Given the description of an element on the screen output the (x, y) to click on. 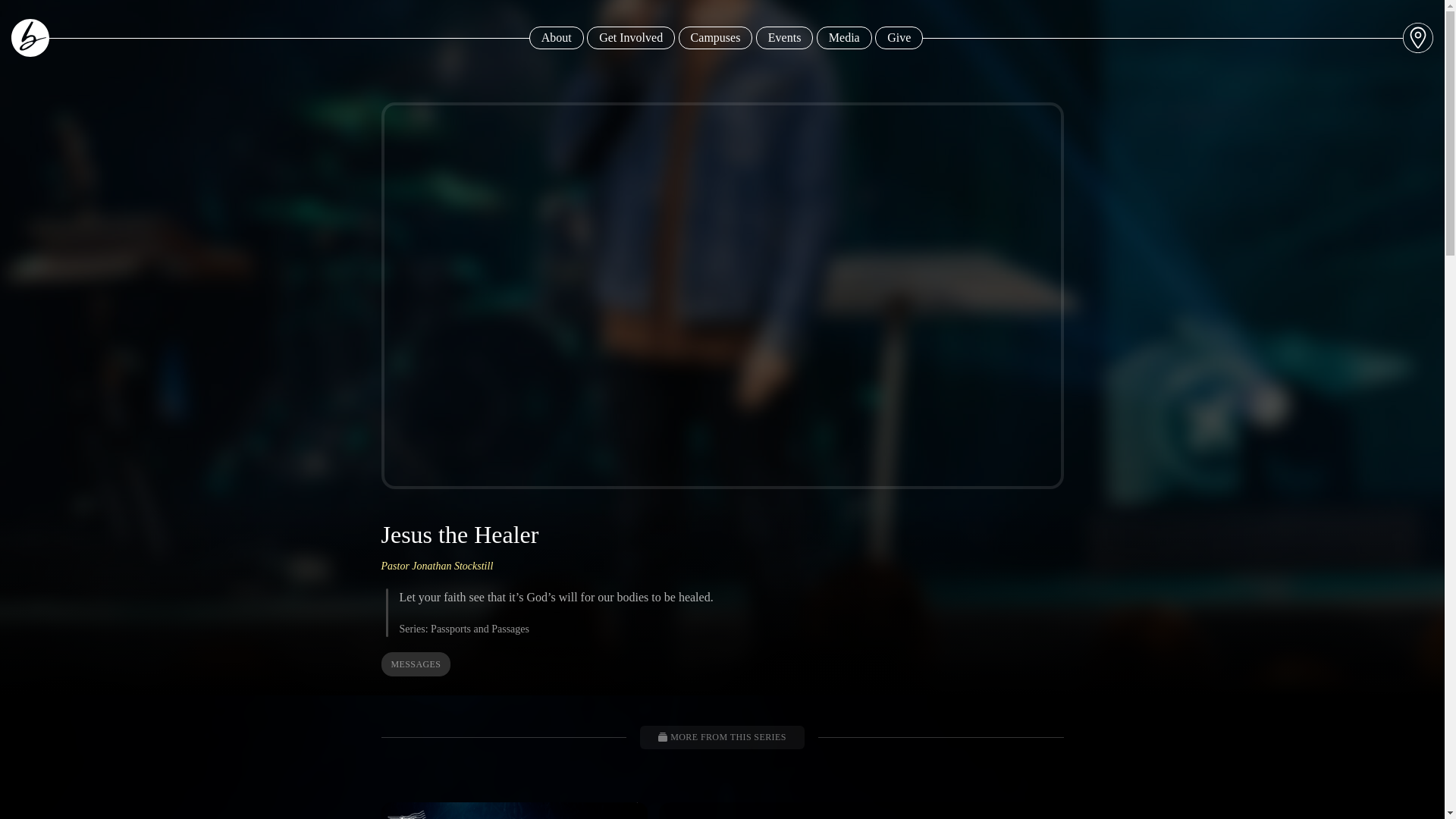
Get Involved (630, 37)
Events (784, 37)
Pastor Jonathan Stockstill (436, 565)
Give (860, 810)
Campuses (899, 37)
Media (715, 37)
About (844, 37)
